Given the description of an element on the screen output the (x, y) to click on. 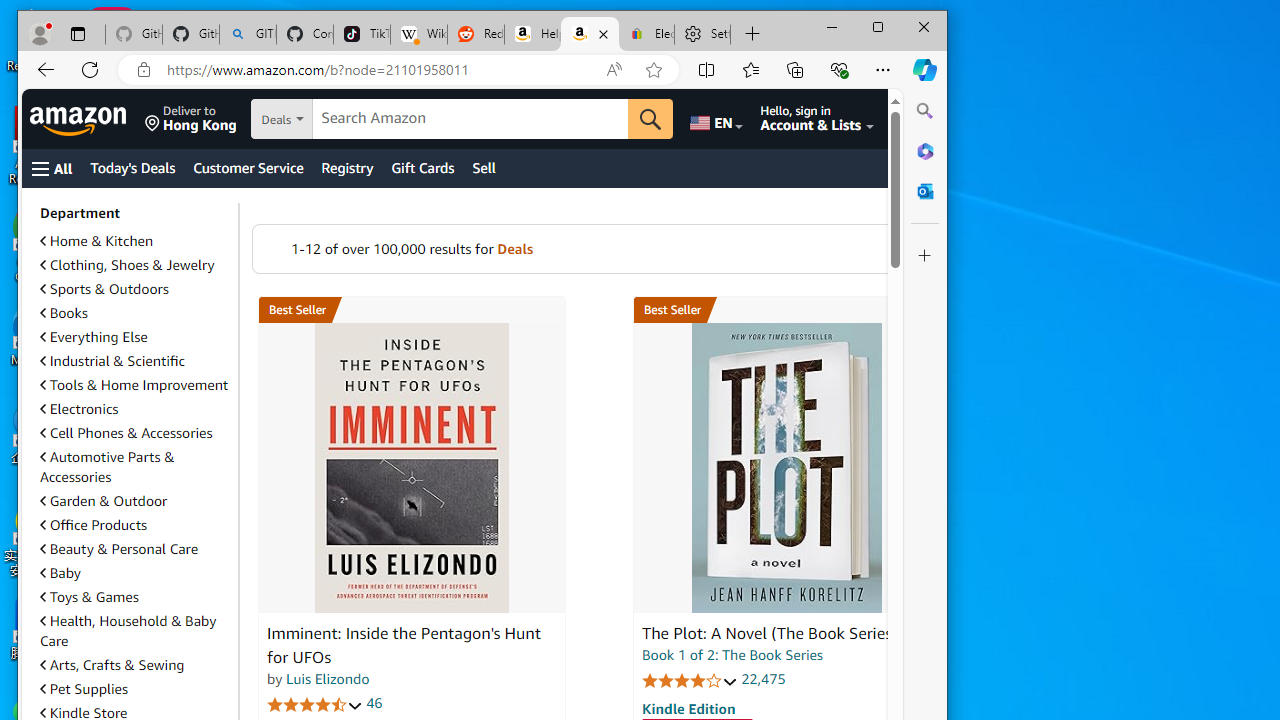
Gift Cards (422, 168)
Books (135, 313)
Skip to main content (104, 117)
Electronics (79, 409)
Pet Supplies (135, 688)
Home & Kitchen (135, 241)
Home & Kitchen (96, 240)
Cell Phones & Accessories (135, 432)
4.7 out of 5 stars (315, 704)
Registry (347, 168)
